Given the description of an element on the screen output the (x, y) to click on. 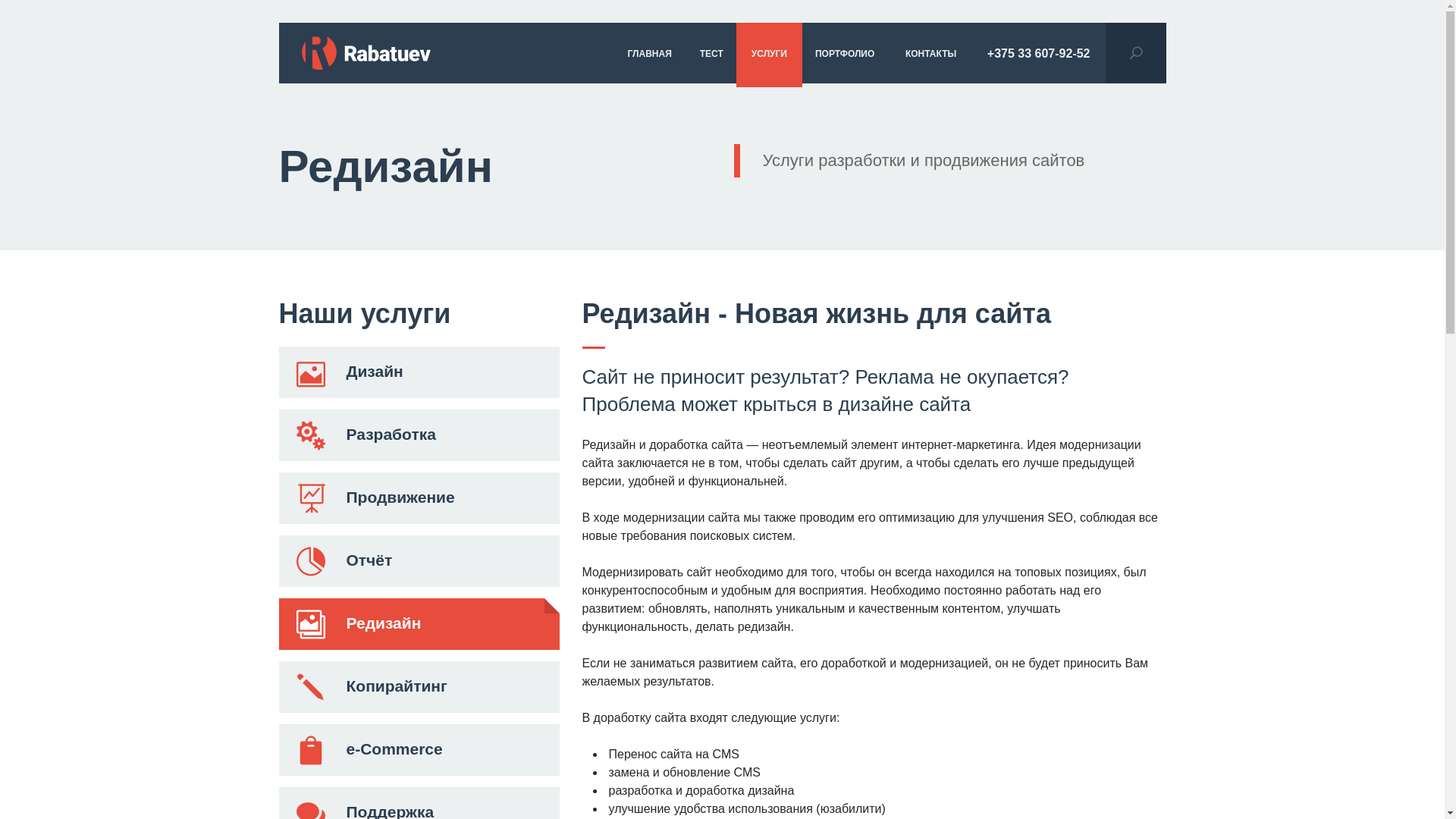
e-Commerce Element type: text (419, 749)
